Given the description of an element on the screen output the (x, y) to click on. 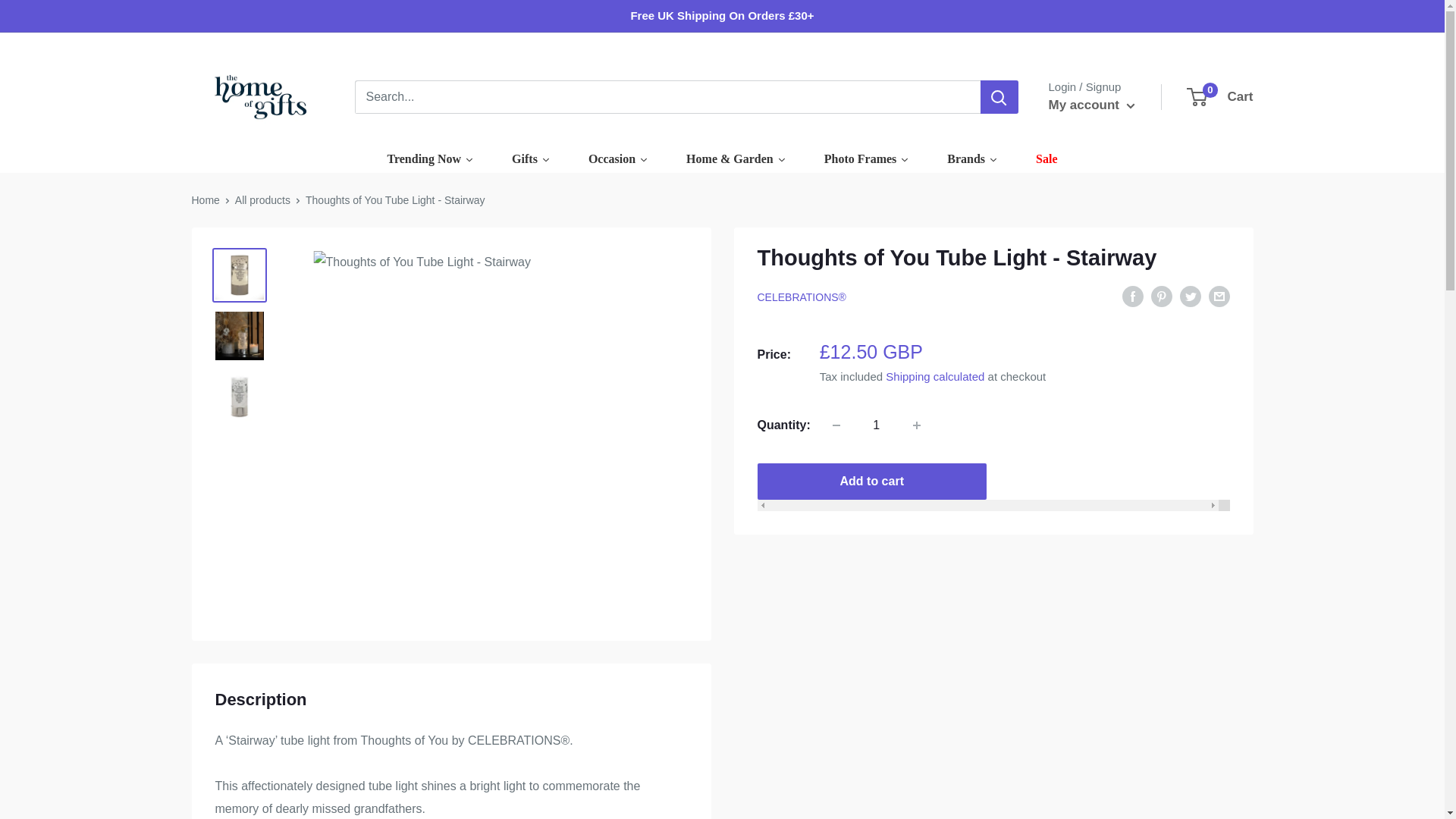
Gifts (531, 158)
Photo Frames (866, 158)
Increase quantity by 1 (917, 425)
The Home of Gifts (256, 96)
1 (876, 425)
Occasion (617, 158)
Decrease quantity by 1 (836, 425)
Brands (1220, 96)
Photo Frames (972, 158)
